Given the description of an element on the screen output the (x, y) to click on. 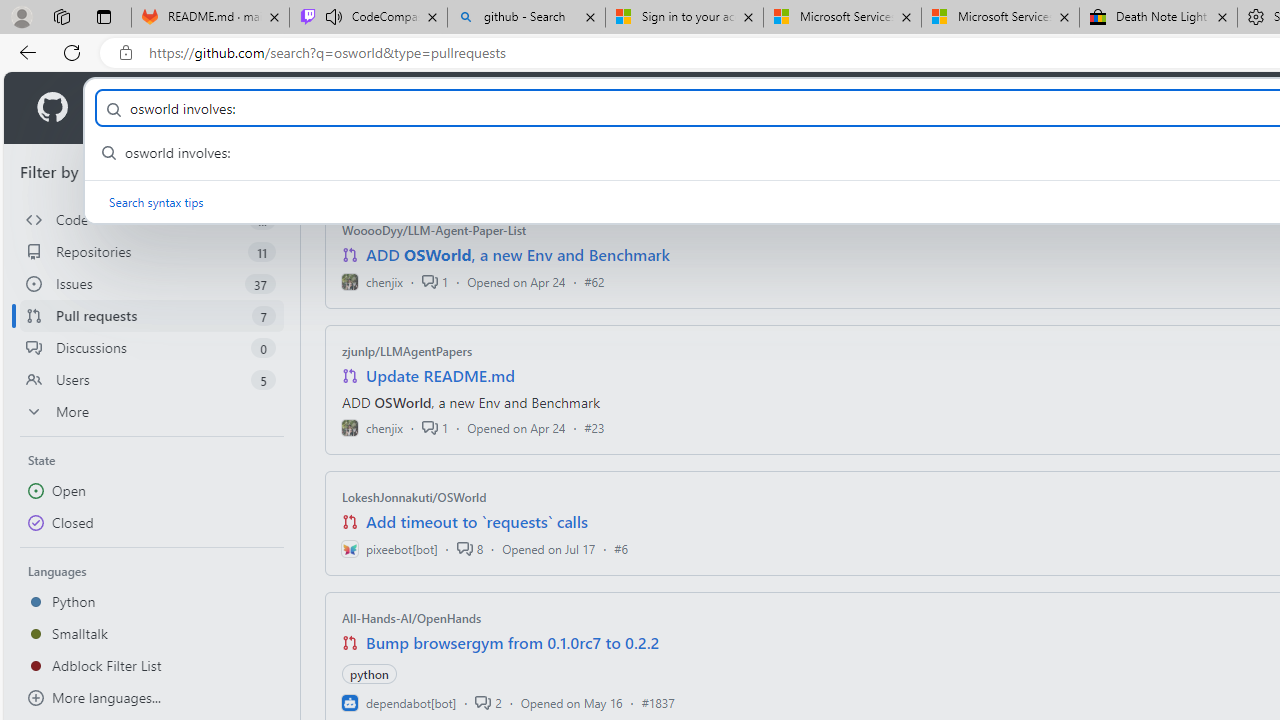
Resources (330, 107)
More languages... (152, 697)
chenjix (372, 427)
All-Hands-AI/OpenHands (411, 618)
#62 (594, 281)
Microsoft Services Agreement (1000, 17)
More languages... (152, 697)
Open Source (446, 107)
